Given the description of an element on the screen output the (x, y) to click on. 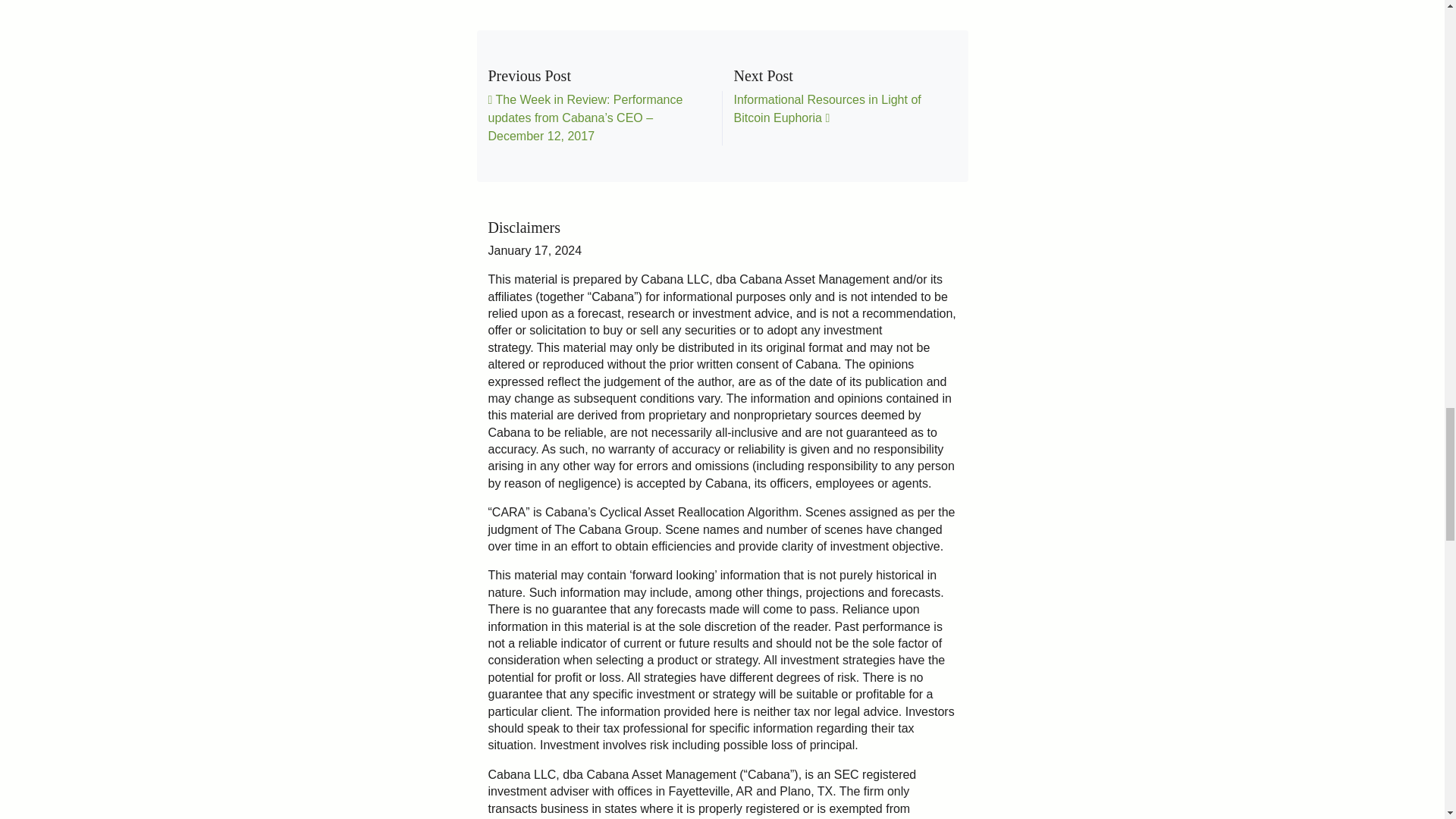
Informational Resources in Light of Bitcoin Euphoria  (827, 108)
